Given the description of an element on the screen output the (x, y) to click on. 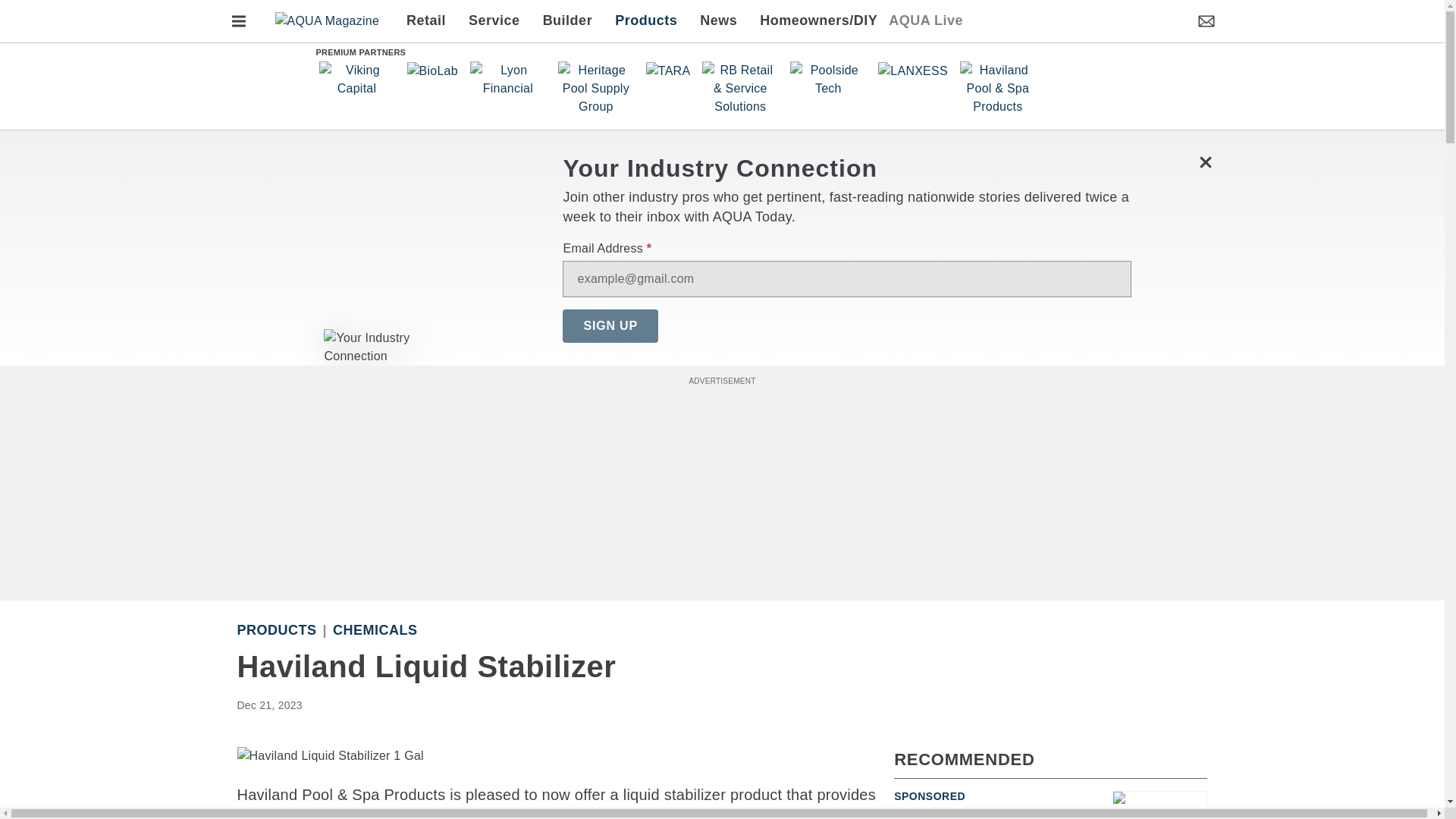
News (718, 21)
Retail (431, 21)
Viking Capital (356, 79)
Service (494, 21)
Products (646, 21)
Lyon Financial (508, 79)
Builder (567, 21)
BioLab (431, 70)
AQUA Live (925, 21)
